Given the description of an element on the screen output the (x, y) to click on. 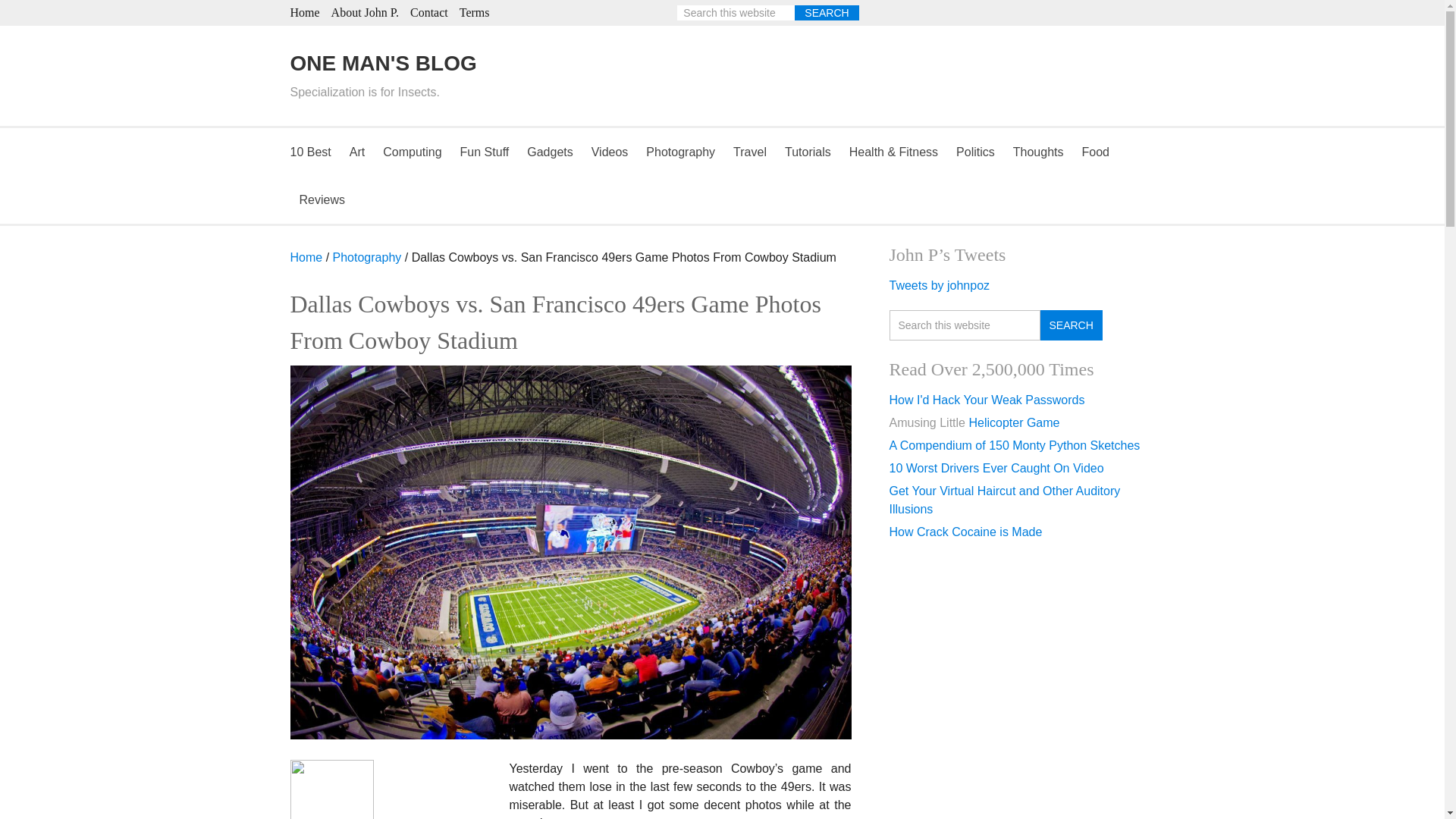
Food (1095, 151)
Tutorials (808, 151)
Fun Stuff (484, 151)
Cowboys Game HDR (443, 789)
About John P. (364, 11)
Reviews (321, 199)
Search (826, 12)
Search (1071, 325)
ONE MAN'S BLOG (382, 63)
Photography (680, 151)
